Given the description of an element on the screen output the (x, y) to click on. 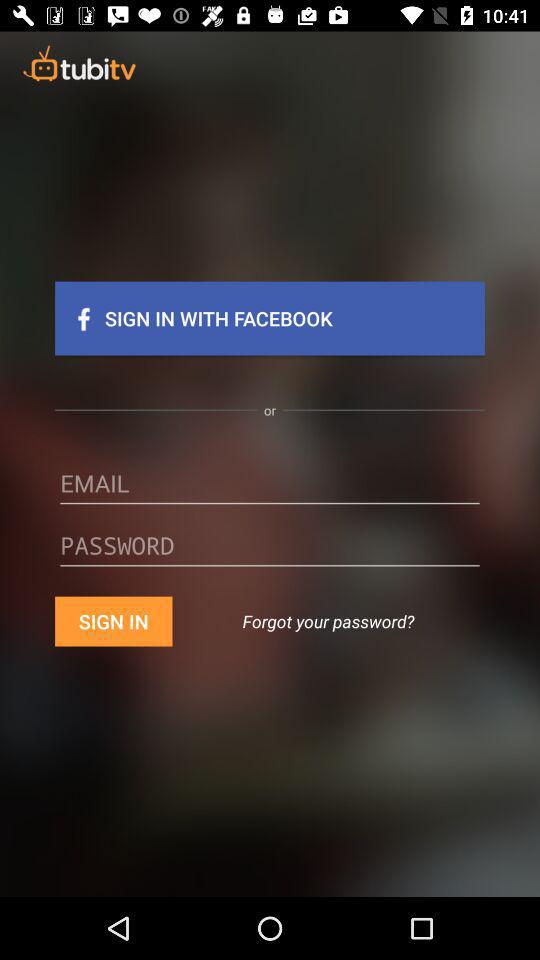
enter email address (269, 489)
